Given the description of an element on the screen output the (x, y) to click on. 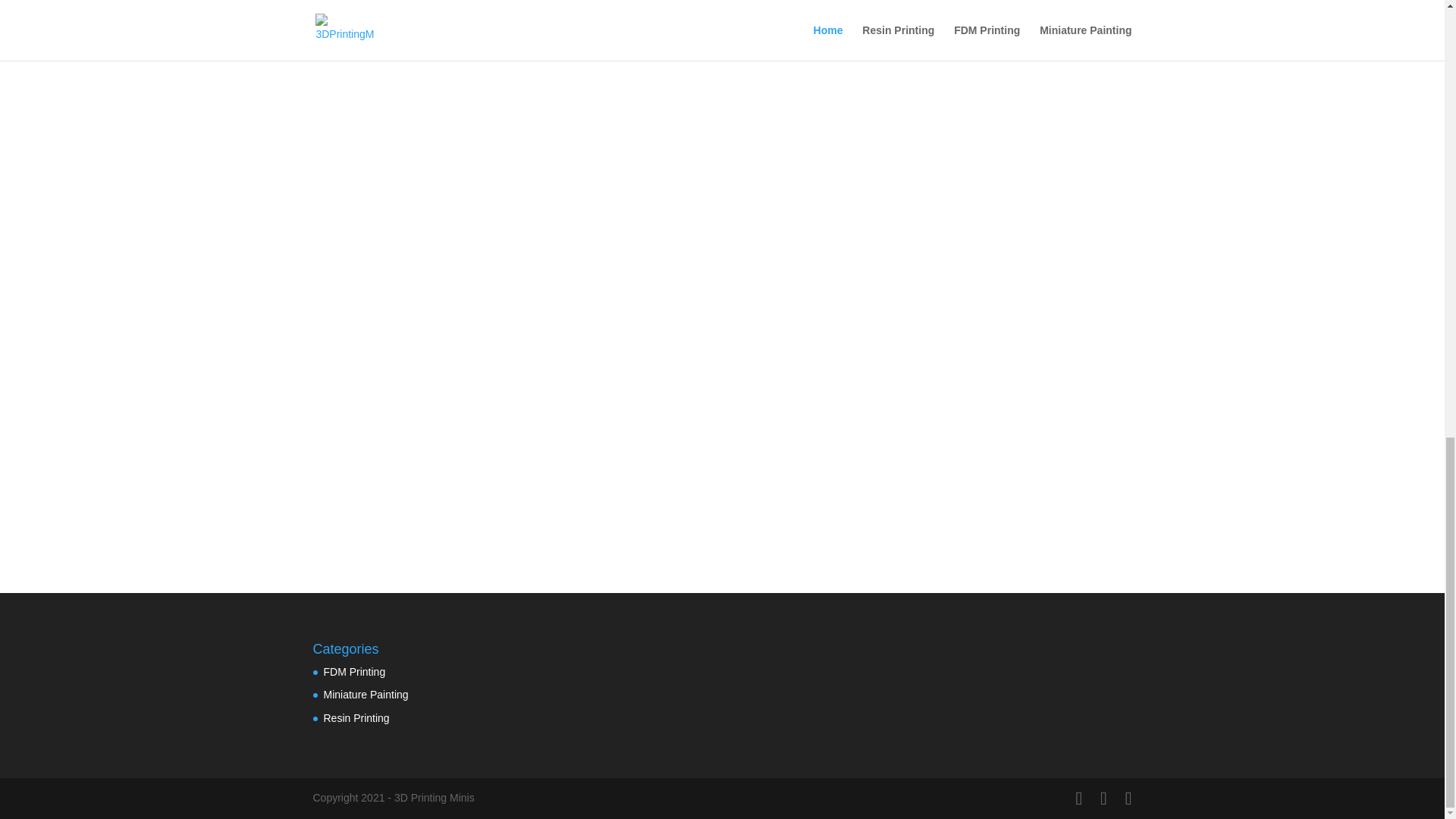
Miniature Painting (365, 694)
Resin Printing (355, 717)
FDM Printing (354, 671)
